Given the description of an element on the screen output the (x, y) to click on. 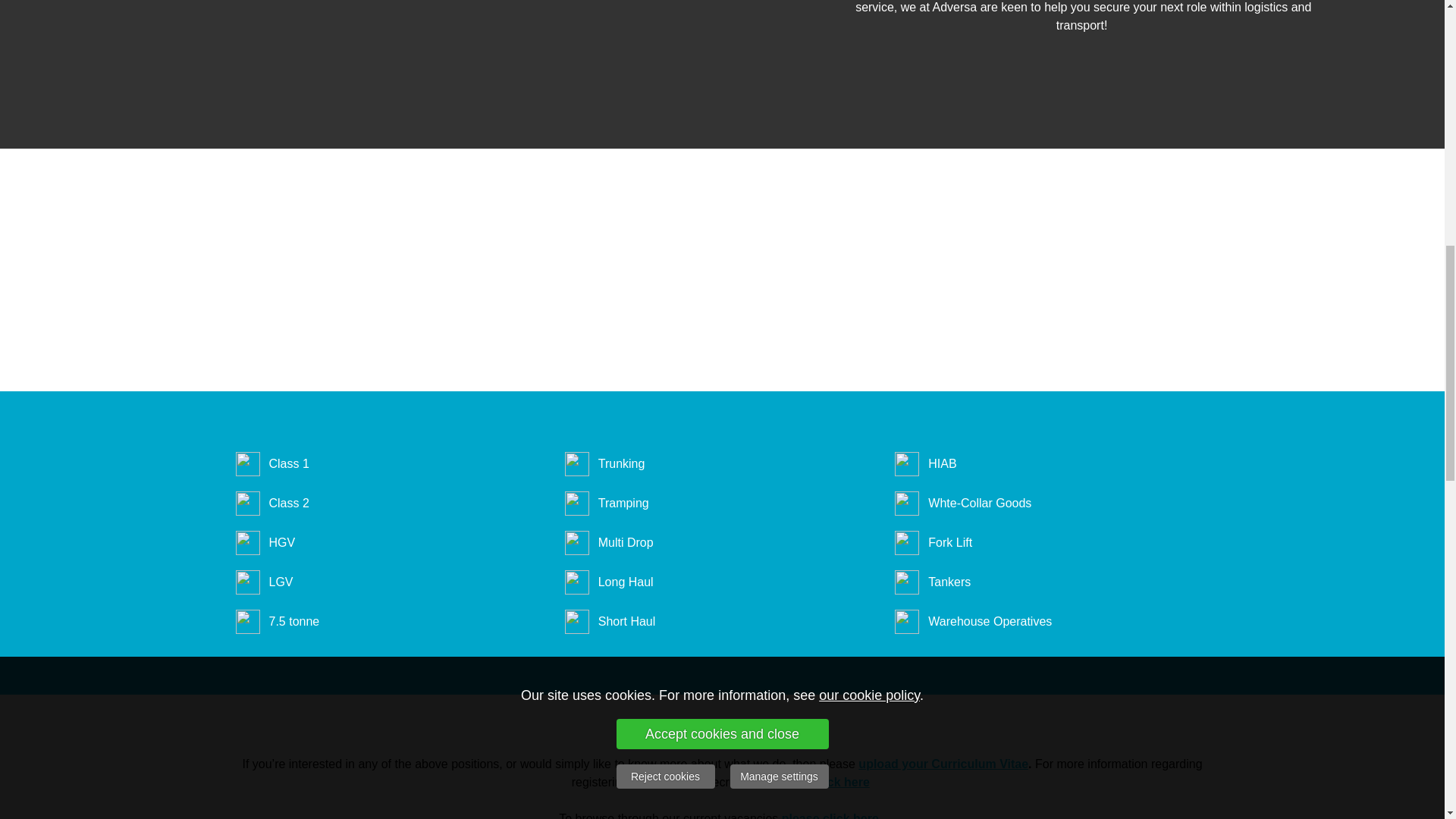
upload your Curriculum Vitae (943, 763)
please click here (821, 781)
please click here (830, 815)
